Given the description of an element on the screen output the (x, y) to click on. 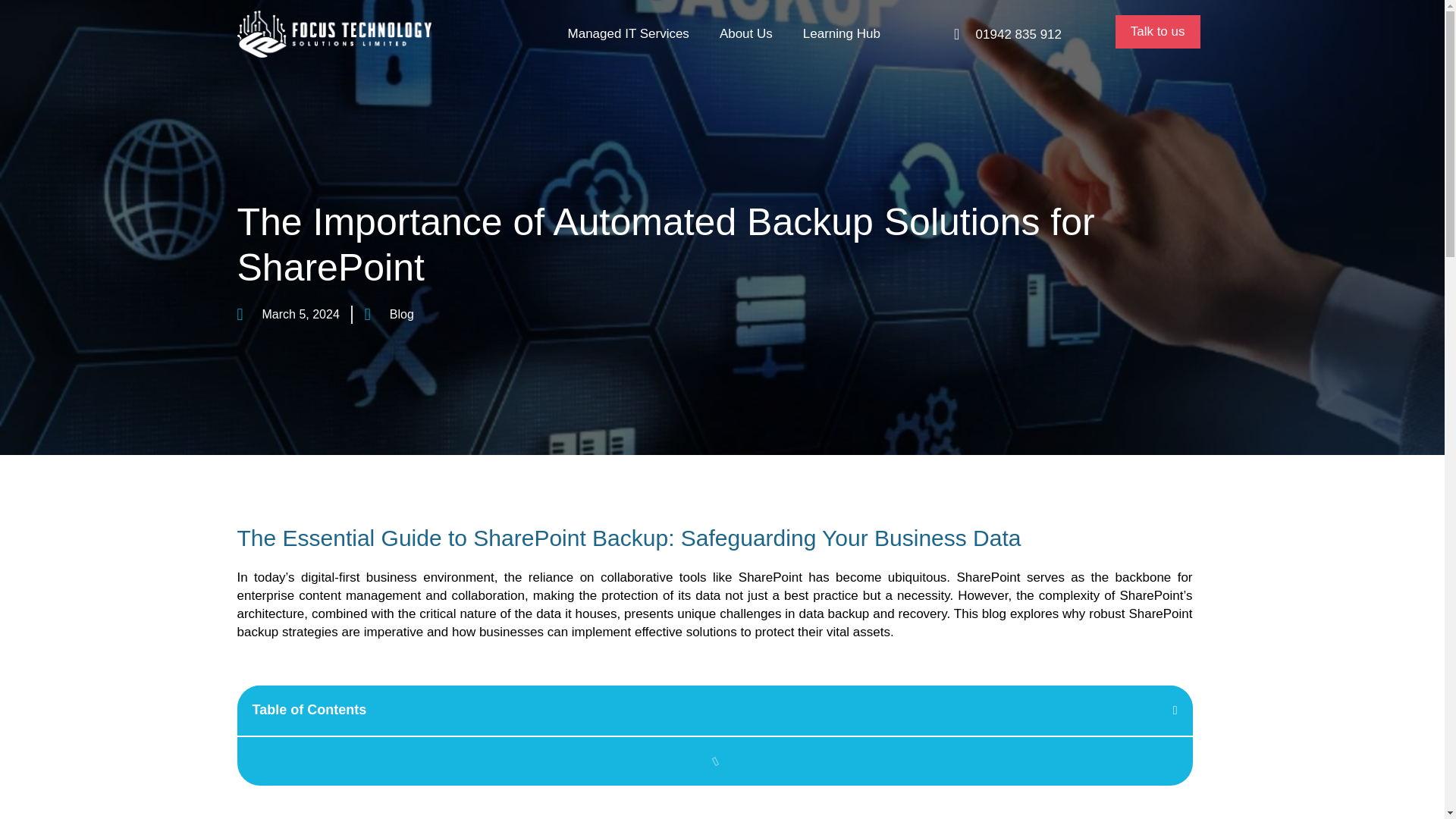
01942 835 912 (1018, 34)
About Us (745, 34)
Managed IT Services (628, 34)
Learning Hub (841, 34)
Talk to us (1157, 31)
